Given the description of an element on the screen output the (x, y) to click on. 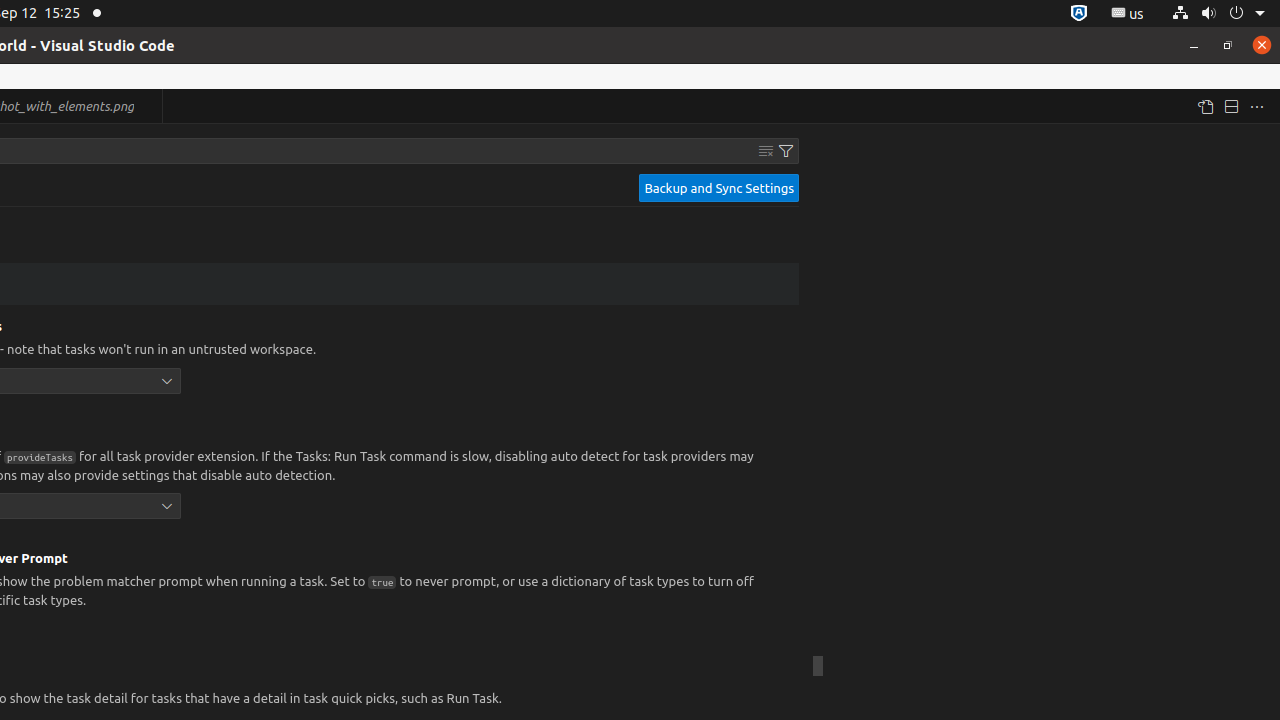
Filter Settings Element type: push-button (786, 151)
Split Editor Right (Ctrl+\) [Alt] Split Editor Down Element type: push-button (1231, 106)
Close (Ctrl+W) Element type: push-button (148, 106)
